Given the description of an element on the screen output the (x, y) to click on. 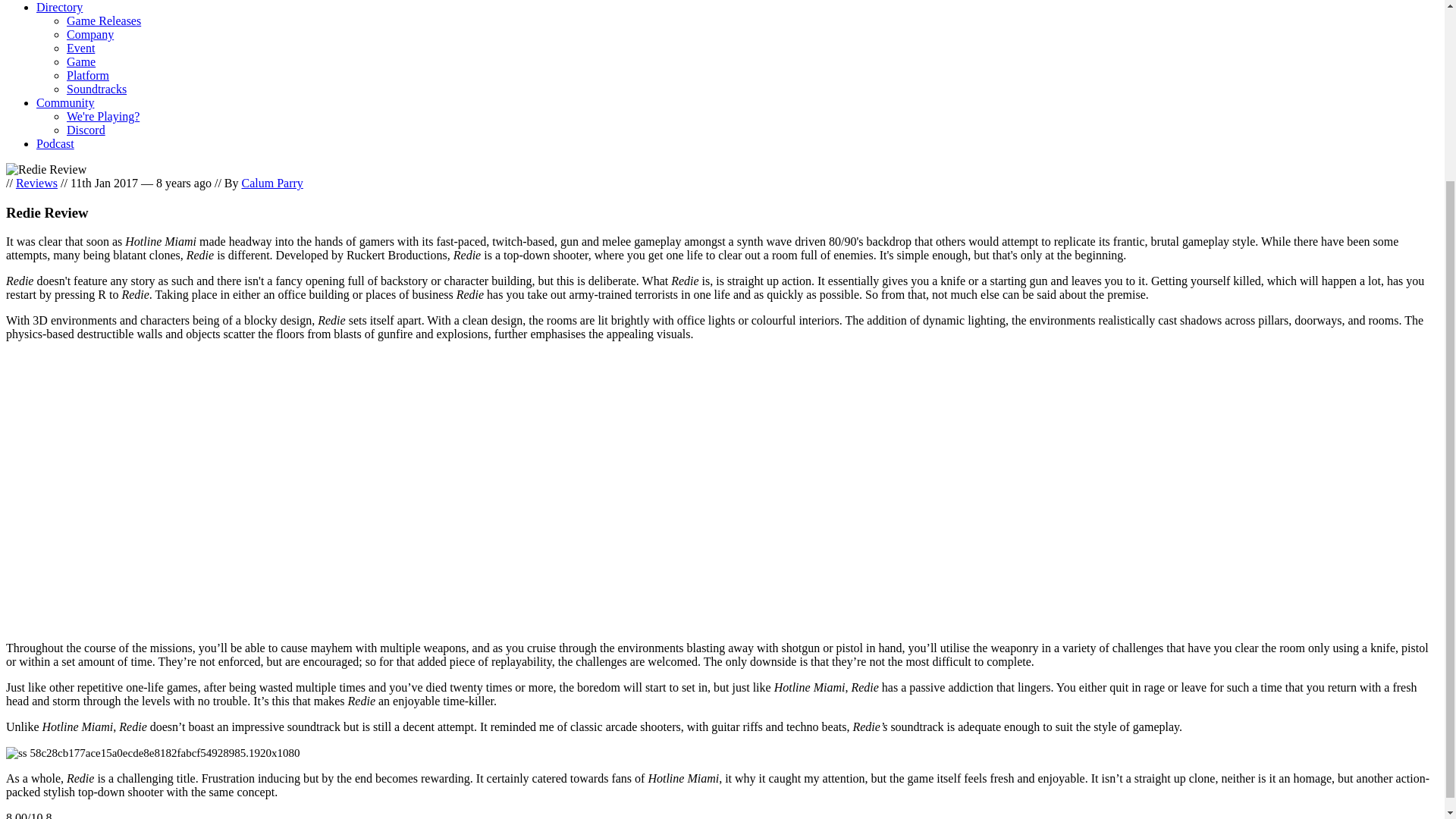
Discord (85, 129)
Company (89, 33)
Community (65, 102)
Podcast (55, 143)
Game Releases (103, 20)
Reviews (37, 182)
Platform (87, 74)
Directory (59, 6)
We're Playing? (102, 115)
Soundtracks (96, 88)
